Given the description of an element on the screen output the (x, y) to click on. 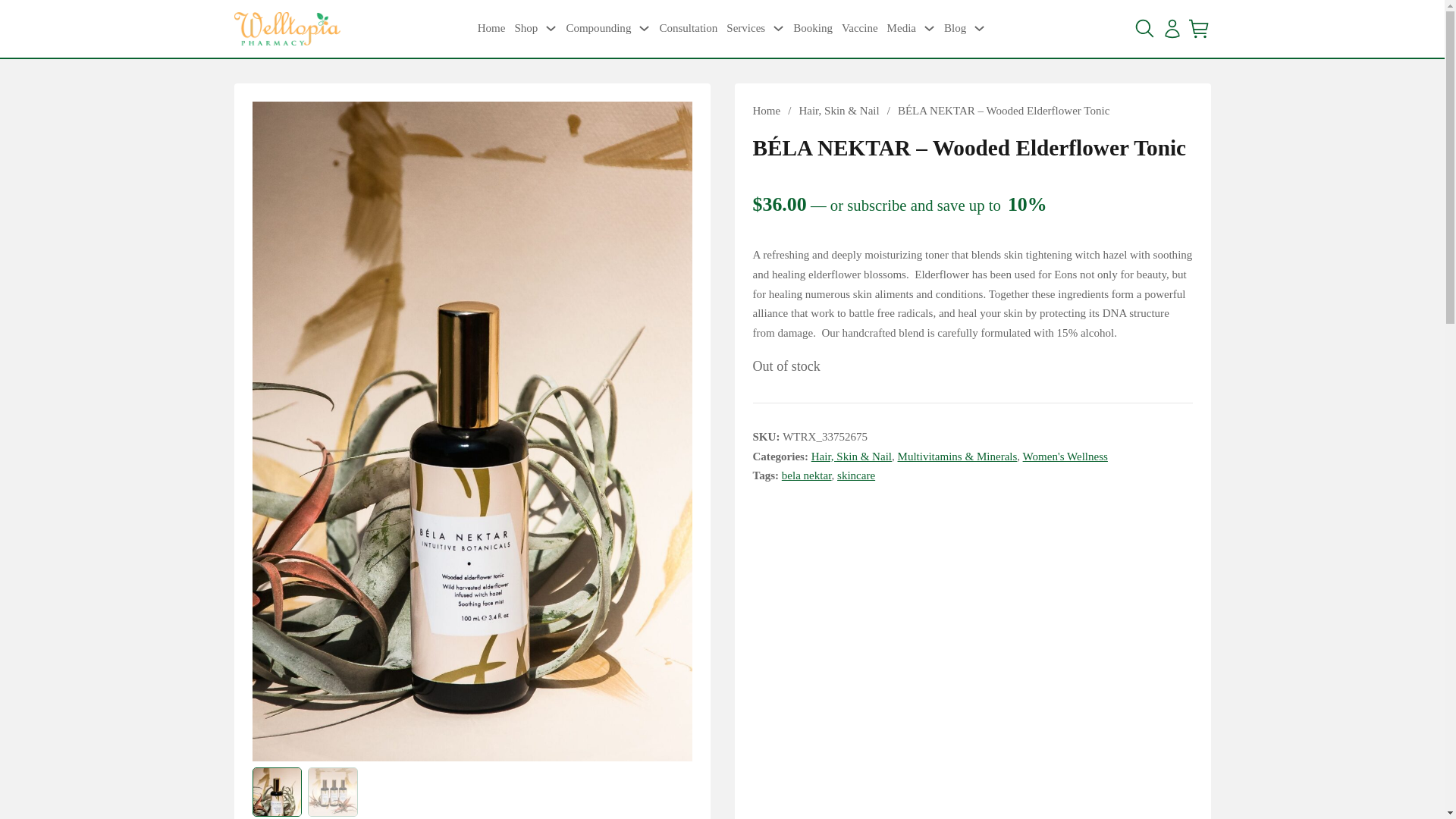
Shop (525, 28)
Services (745, 28)
Booking (812, 28)
Vaccine (859, 28)
Home (491, 28)
Compounding (598, 28)
Consultation (688, 28)
